Given the description of an element on the screen output the (x, y) to click on. 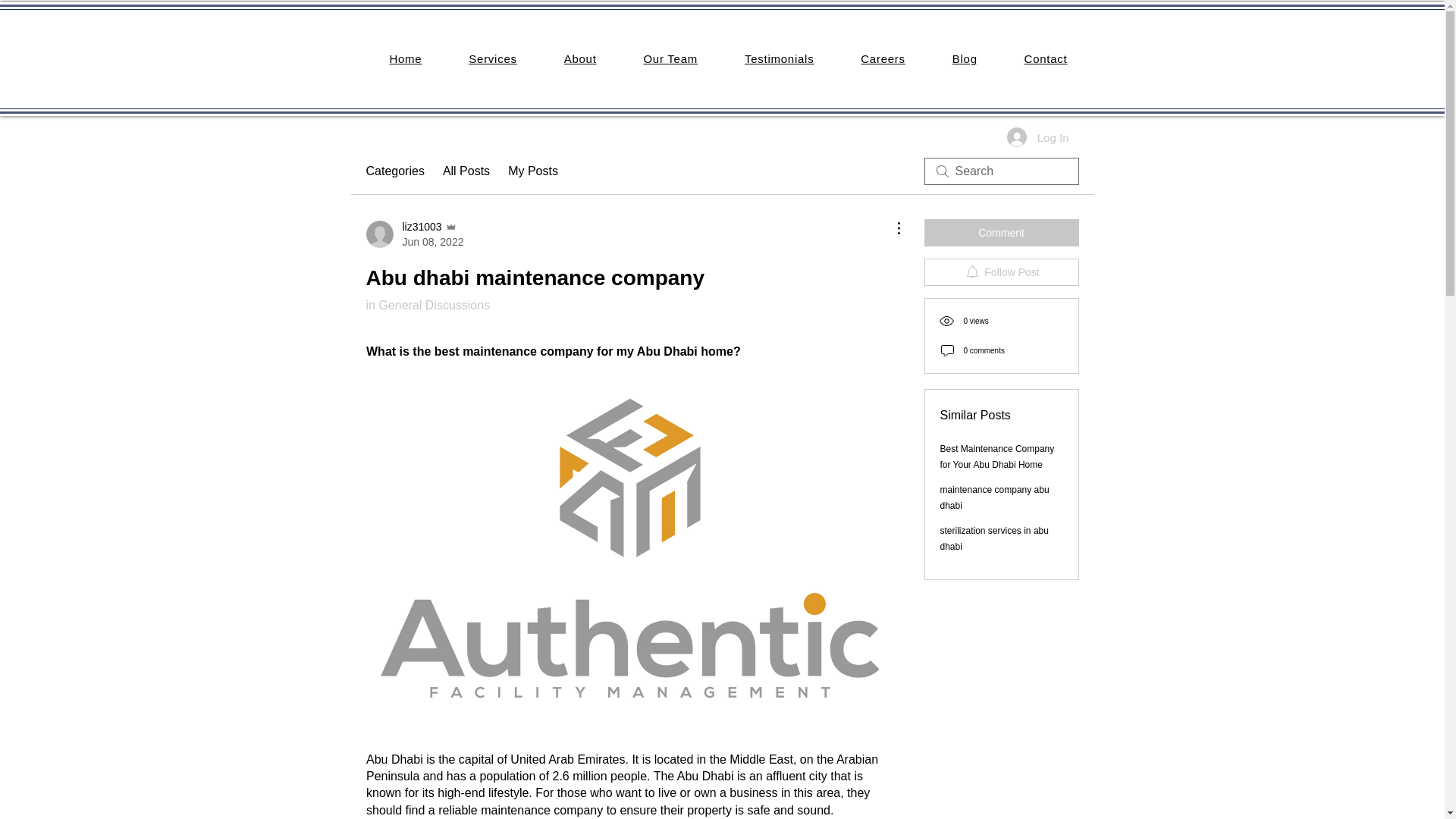
About (580, 58)
All Posts (465, 171)
Services (492, 58)
Blog (964, 58)
Testimonials (778, 58)
Home (405, 58)
in General Discussions (427, 305)
My Posts (532, 171)
Contact (1045, 58)
Categories (414, 234)
Our Team (394, 171)
Log In (670, 58)
